Given the description of an element on the screen output the (x, y) to click on. 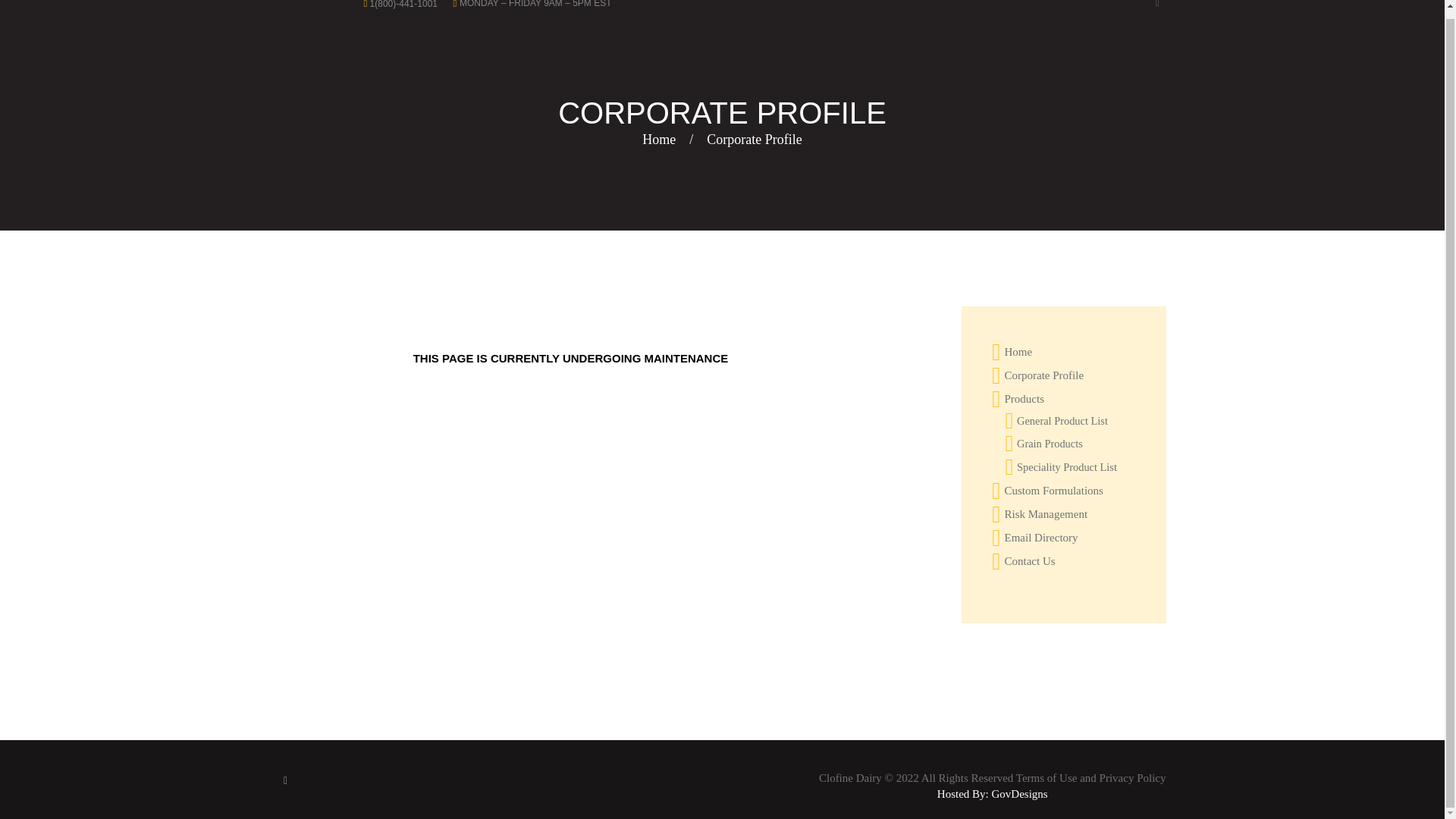
Grain Products (1049, 443)
Corporate Profile (1043, 375)
Terms of Use (1046, 777)
Privacy Policy (1132, 777)
Products (1023, 398)
GovDesigns (1018, 793)
Home (1018, 351)
General Product List (1062, 420)
Speciality Product List (1066, 467)
Risk Management (1045, 513)
